Given the description of an element on the screen output the (x, y) to click on. 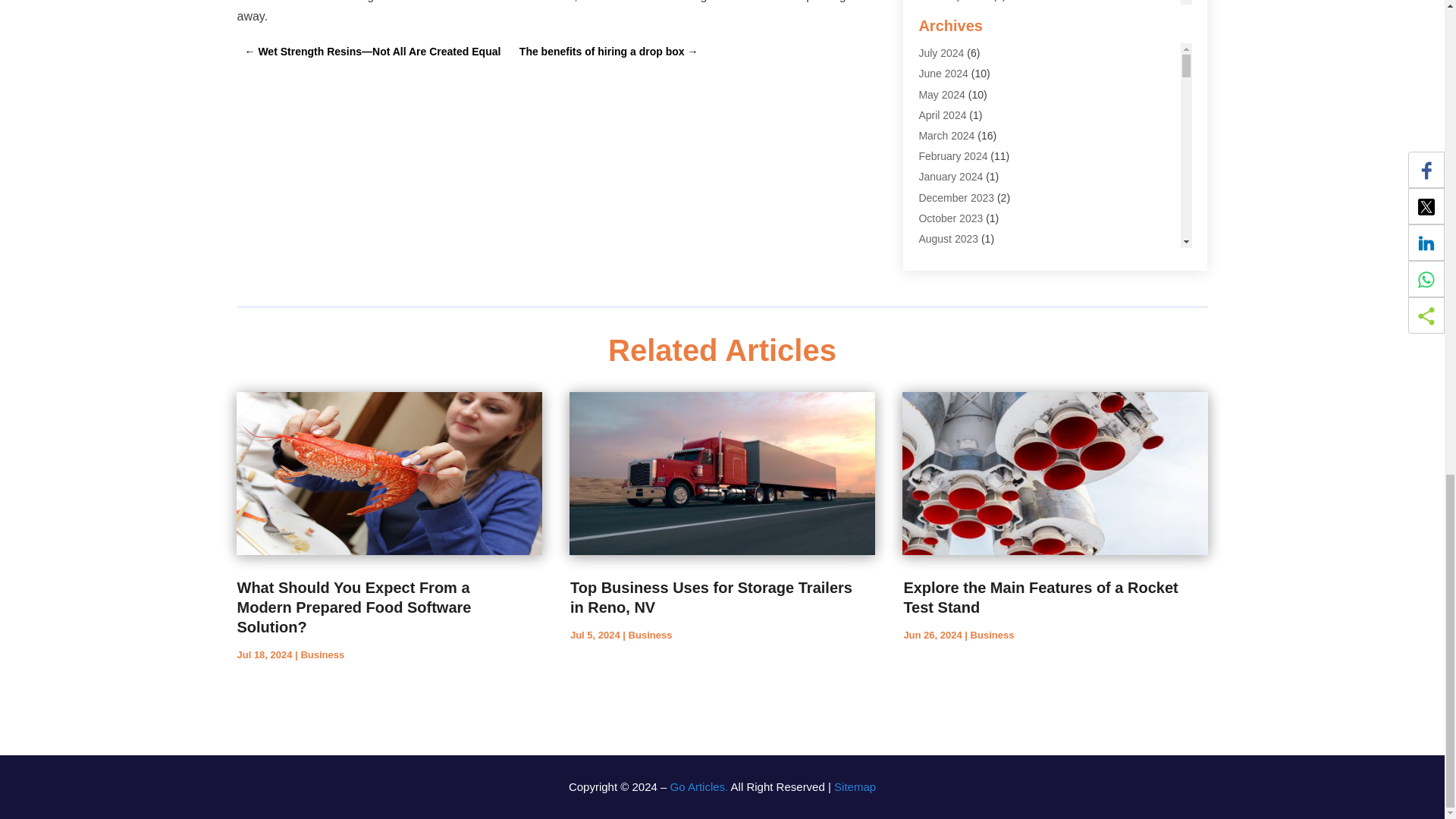
Allergies (938, 36)
Alarm Systems (954, 0)
Alignment (941, 15)
